Given the description of an element on the screen output the (x, y) to click on. 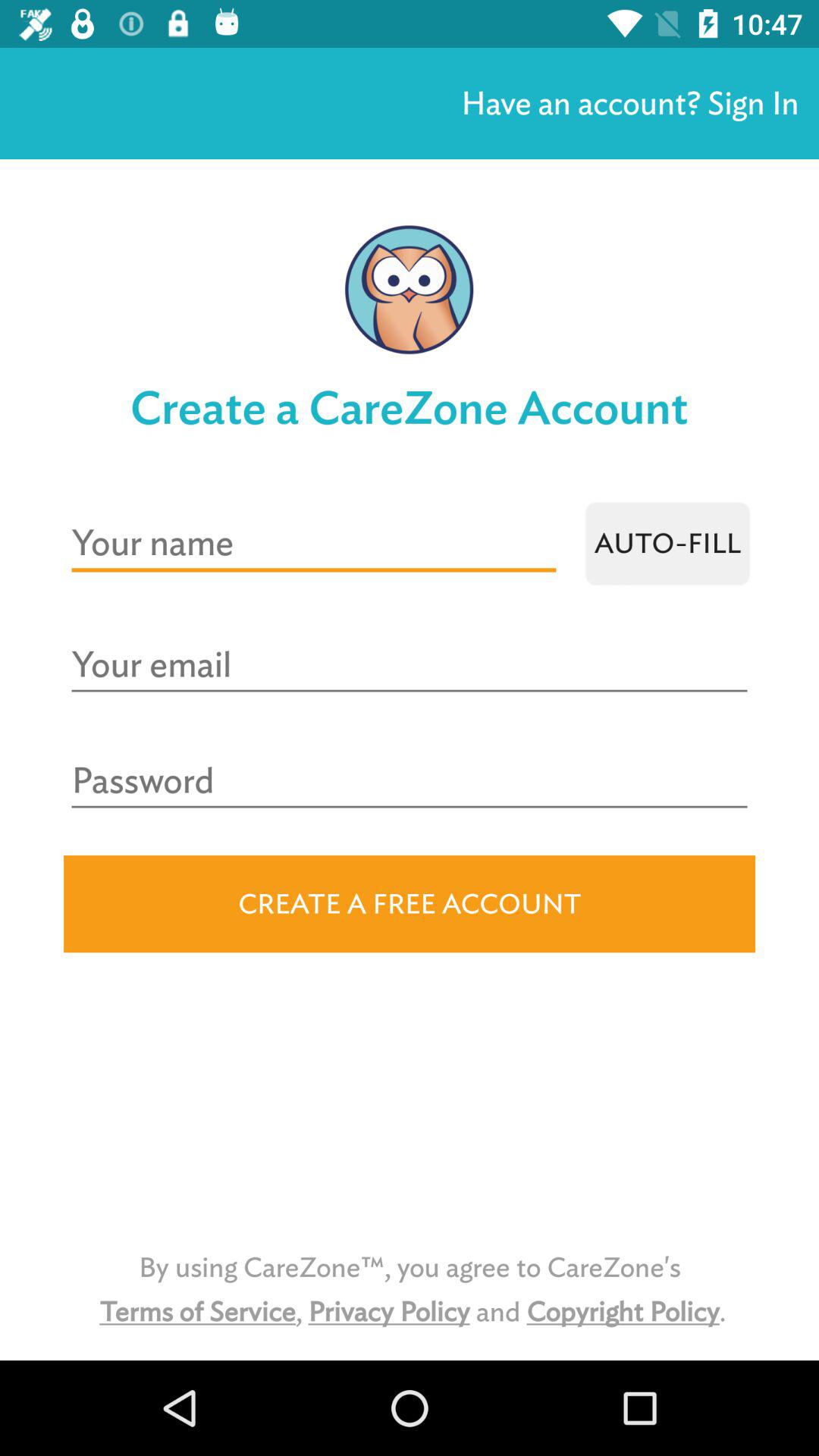
enter your name (313, 543)
